Given the description of an element on the screen output the (x, y) to click on. 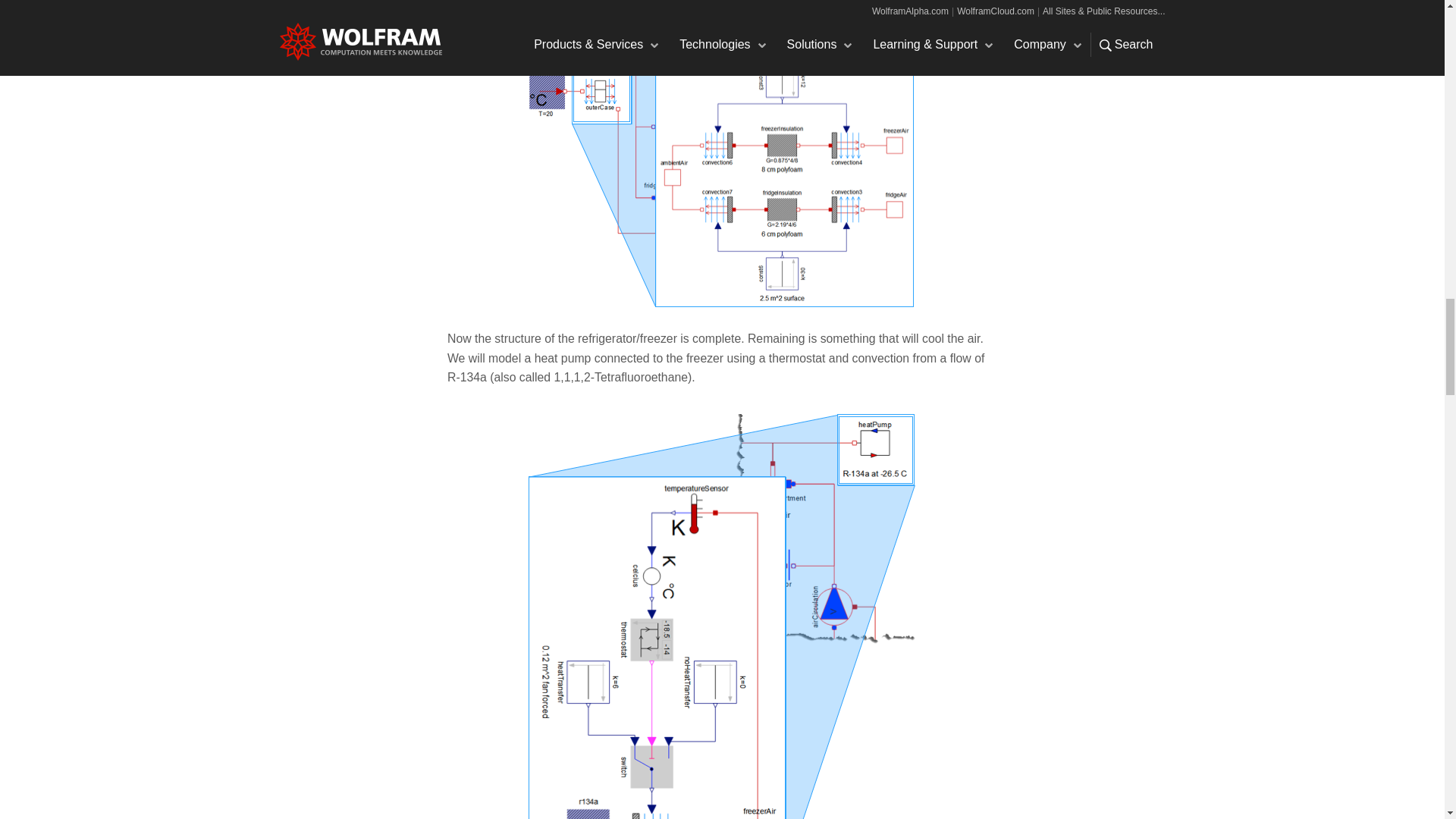
Adding convection and insulation components to the model (721, 155)
